Given the description of an element on the screen output the (x, y) to click on. 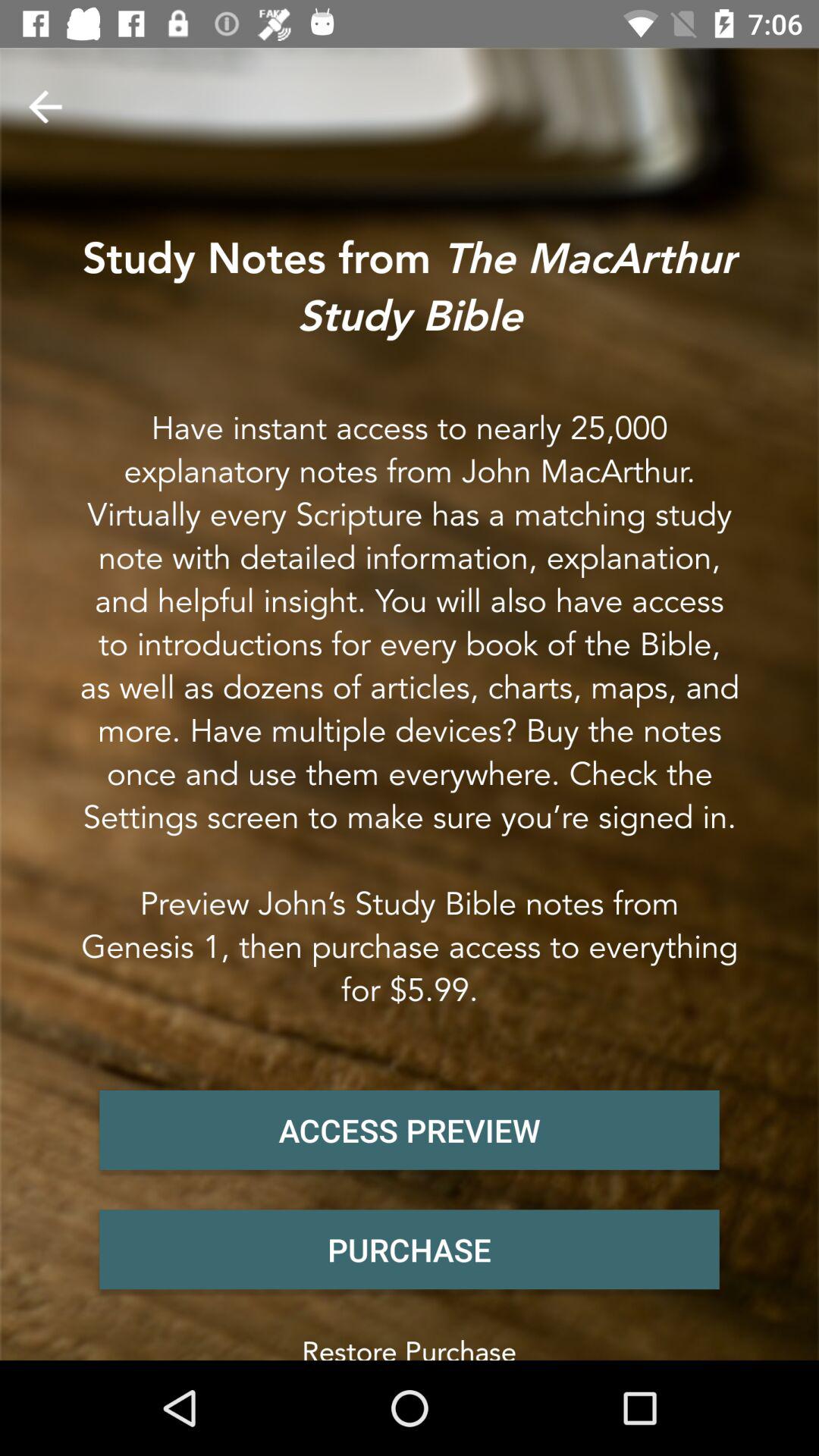
tap item above the study notes from (45, 106)
